Given the description of an element on the screen output the (x, y) to click on. 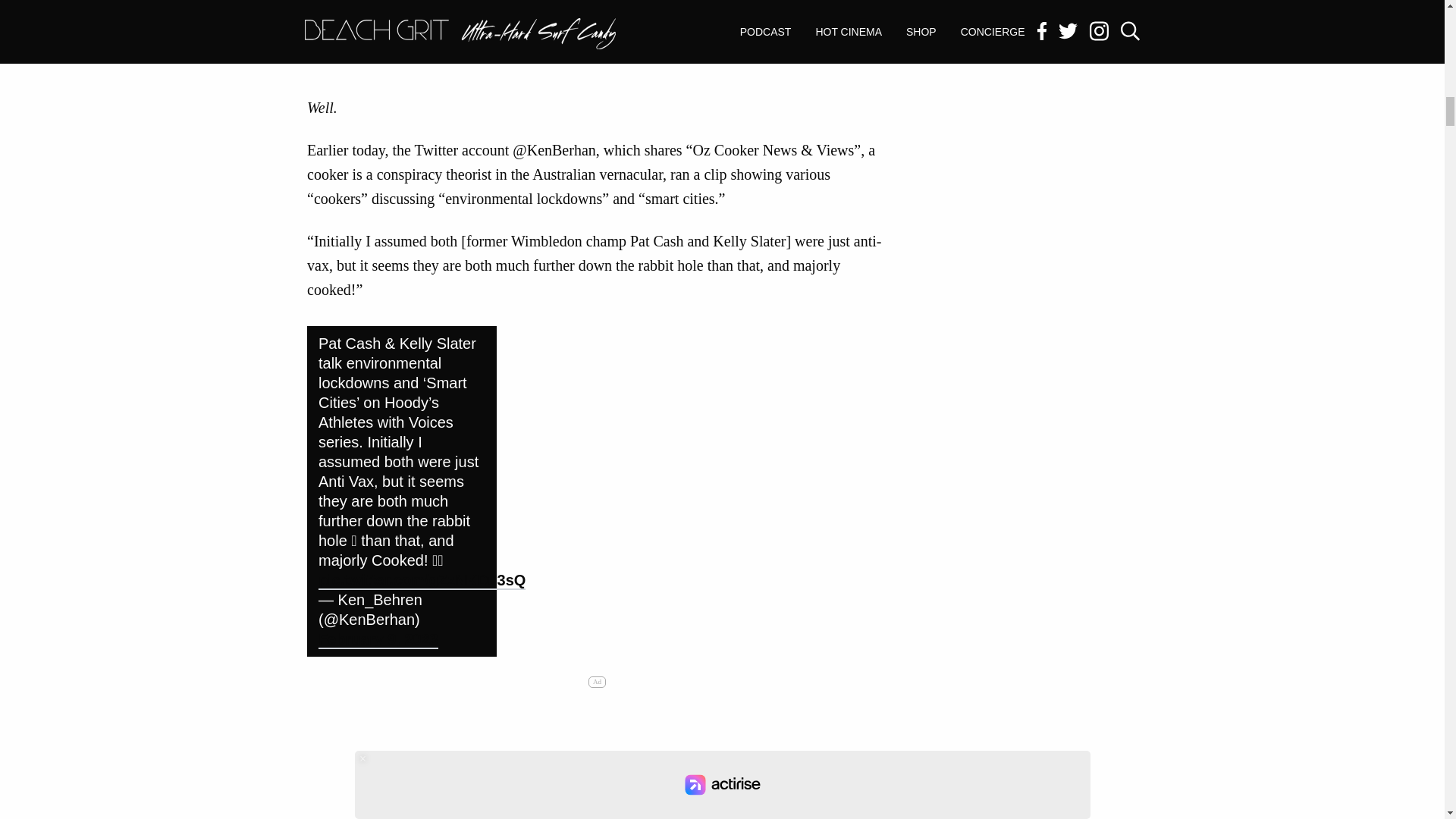
February 9, 2023 (378, 639)
